Given the description of an element on the screen output the (x, y) to click on. 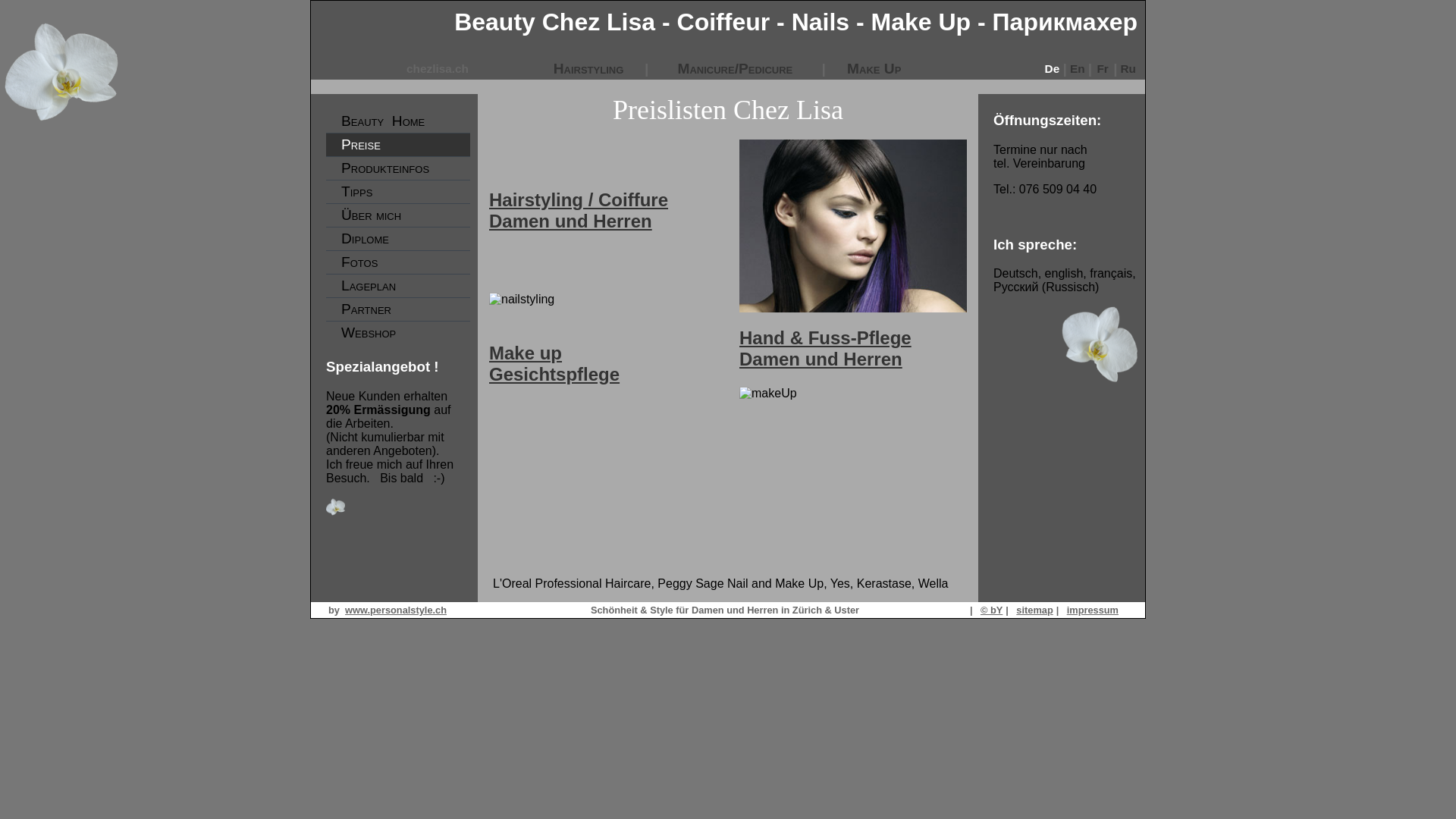
impressum Element type: text (1092, 609)
Fotos Element type: text (398, 262)
Fr Element type: text (1101, 68)
Partner Element type: text (398, 309)
Lageplan Element type: text (398, 285)
Webshop Element type: text (398, 332)
Make up
Gesichtspflege Element type: text (554, 373)
Ru Element type: text (1127, 68)
Hand & Fuss-Pflege
Damen und Herren Element type: text (825, 348)
Diplome Element type: text (398, 238)
Manicure/Pedicure Element type: text (734, 68)
www.personalstyle.ch Element type: text (395, 609)
Tipps Element type: text (398, 191)
Beauty  Home Element type: text (398, 120)
Produkteinfos Element type: text (398, 167)
Hairstyling Element type: text (588, 68)
Hairstyling / Coiffure
Damen und Herren Element type: text (578, 220)
Make Up Element type: text (873, 68)
En Element type: text (1077, 68)
sitemap Element type: text (1034, 609)
Preise Element type: text (398, 144)
De Element type: text (1052, 68)
